Given the description of an element on the screen output the (x, y) to click on. 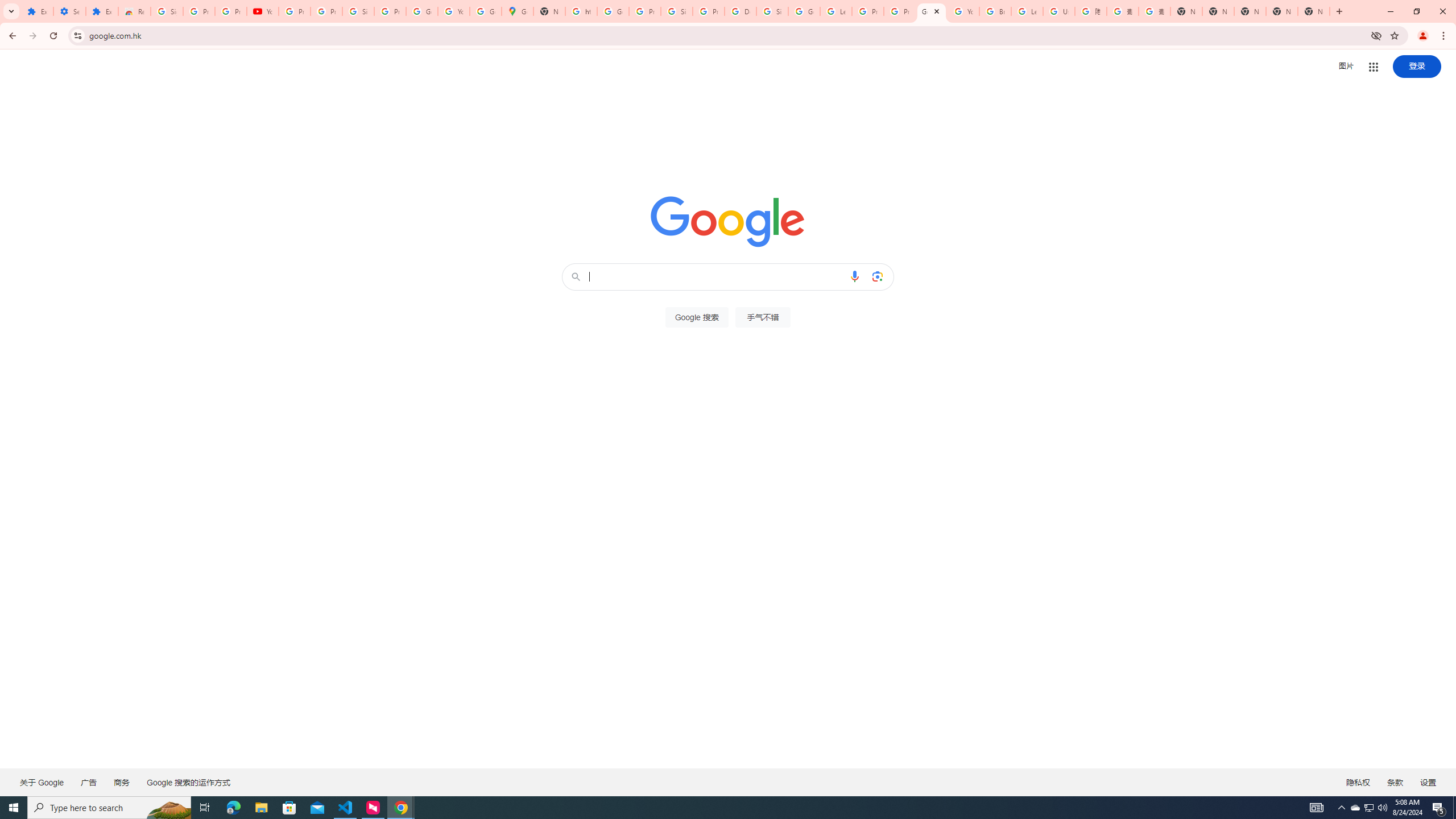
Delete specific Google services or your Google Account (740, 11)
